Given the description of an element on the screen output the (x, y) to click on. 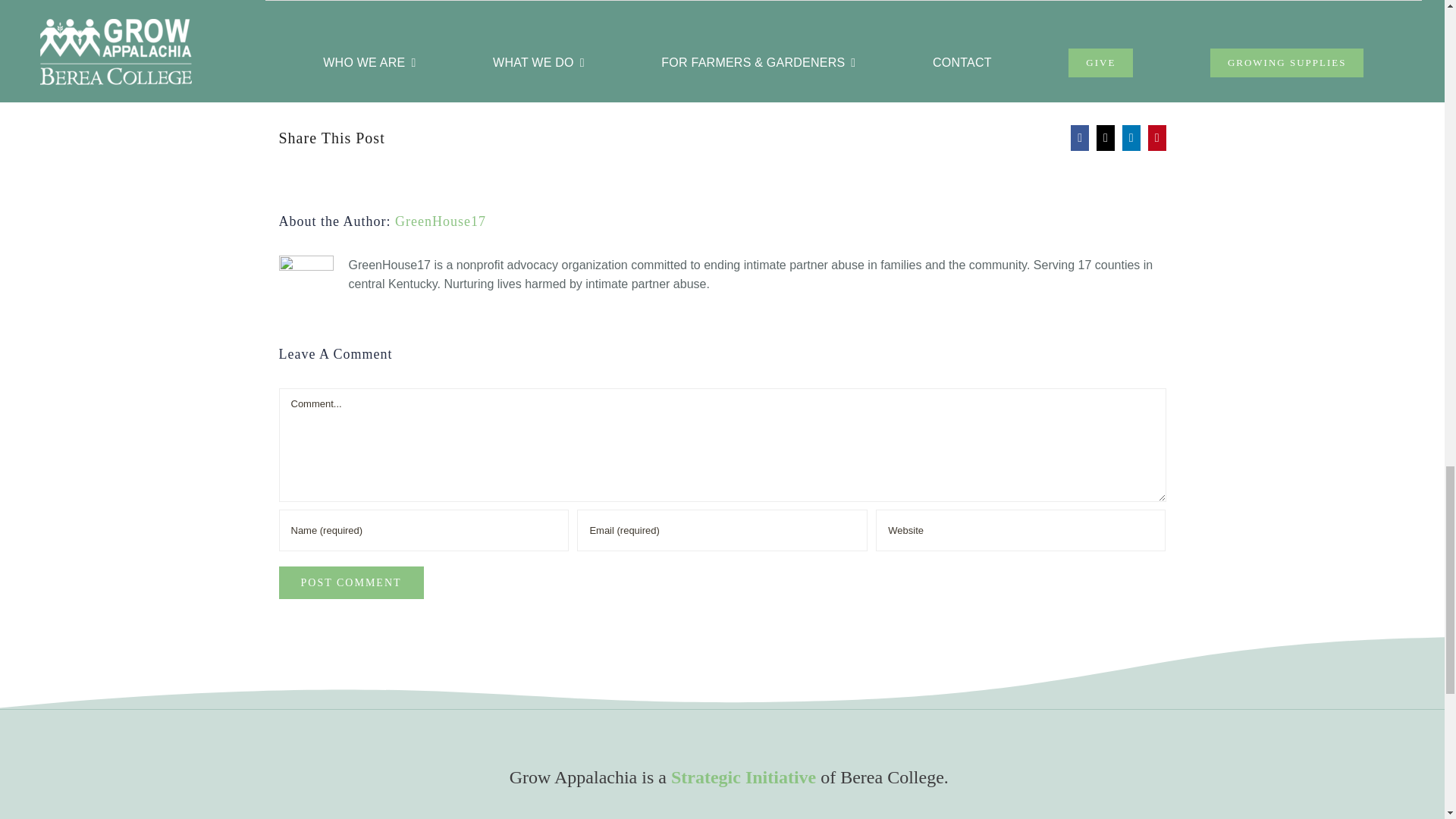
Posts by GreenHouse17 (337, 46)
Posts by GreenHouse17 (440, 221)
Post Comment (351, 582)
